Given the description of an element on the screen output the (x, y) to click on. 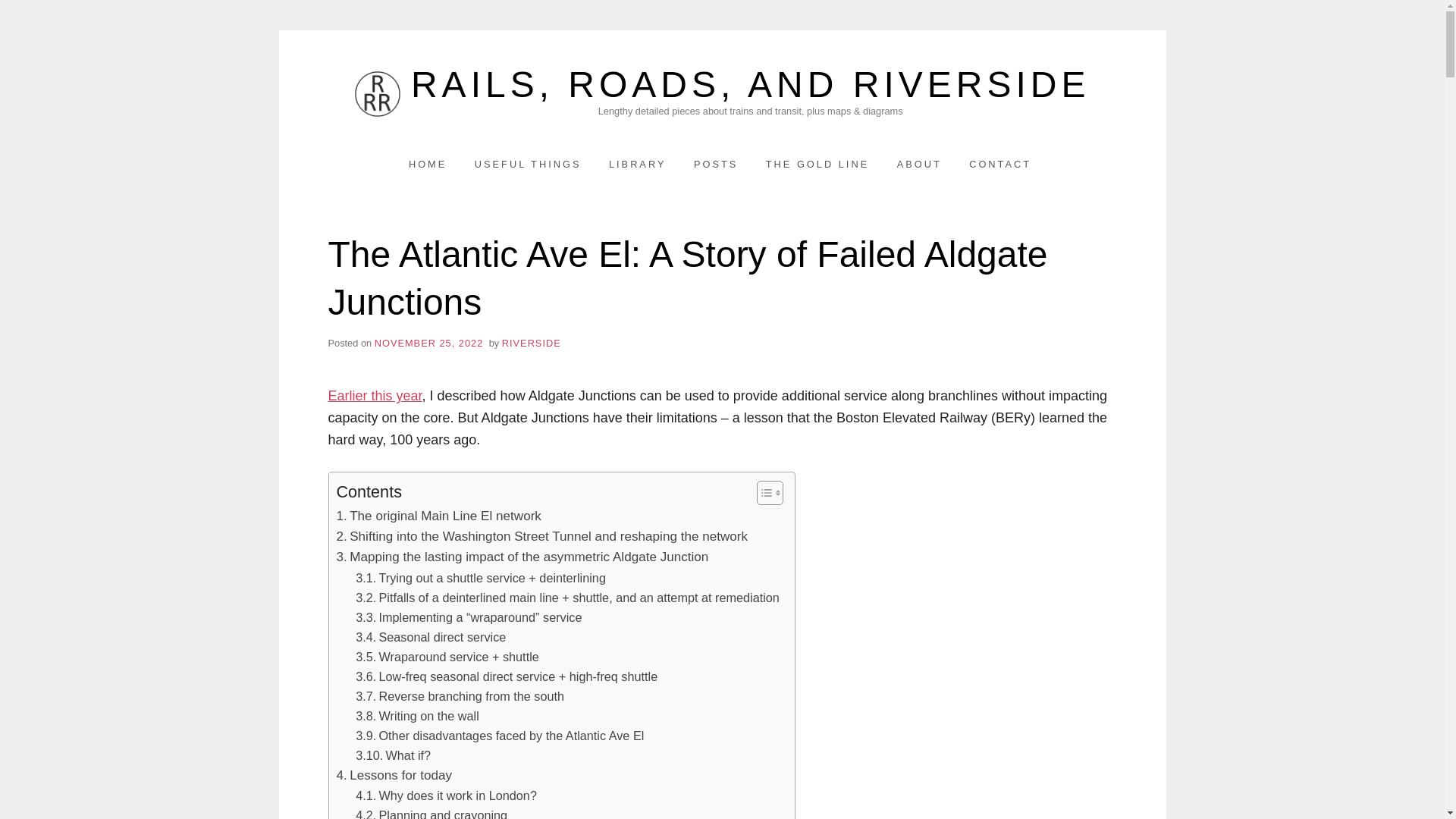
Earlier this year (374, 395)
Other disadvantages faced by the Atlantic Ave El (499, 735)
ABOUT (919, 163)
HOME (427, 163)
Writing on the wall (417, 715)
RIVERSIDE (531, 342)
The original Main Line El network (438, 516)
Reverse branching from the south (459, 695)
What if? (392, 754)
